Given the description of an element on the screen output the (x, y) to click on. 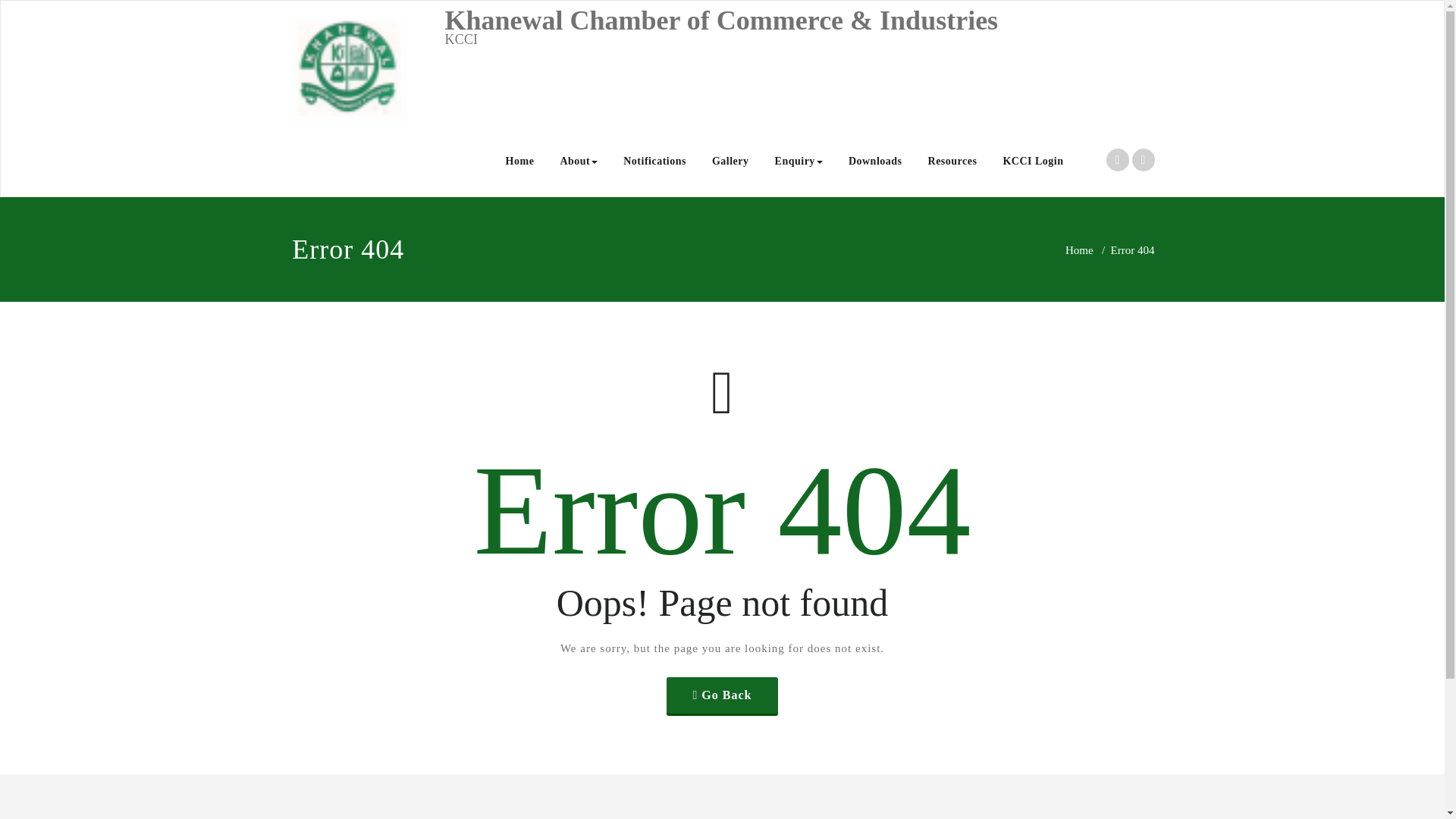
Resources (952, 160)
Enquiry (798, 160)
Go Back (722, 695)
Downloads (875, 160)
Home (520, 160)
Gallery (729, 160)
About (578, 160)
Home (1079, 250)
Notifications (654, 160)
KCCI Login (1032, 160)
